Given the description of an element on the screen output the (x, y) to click on. 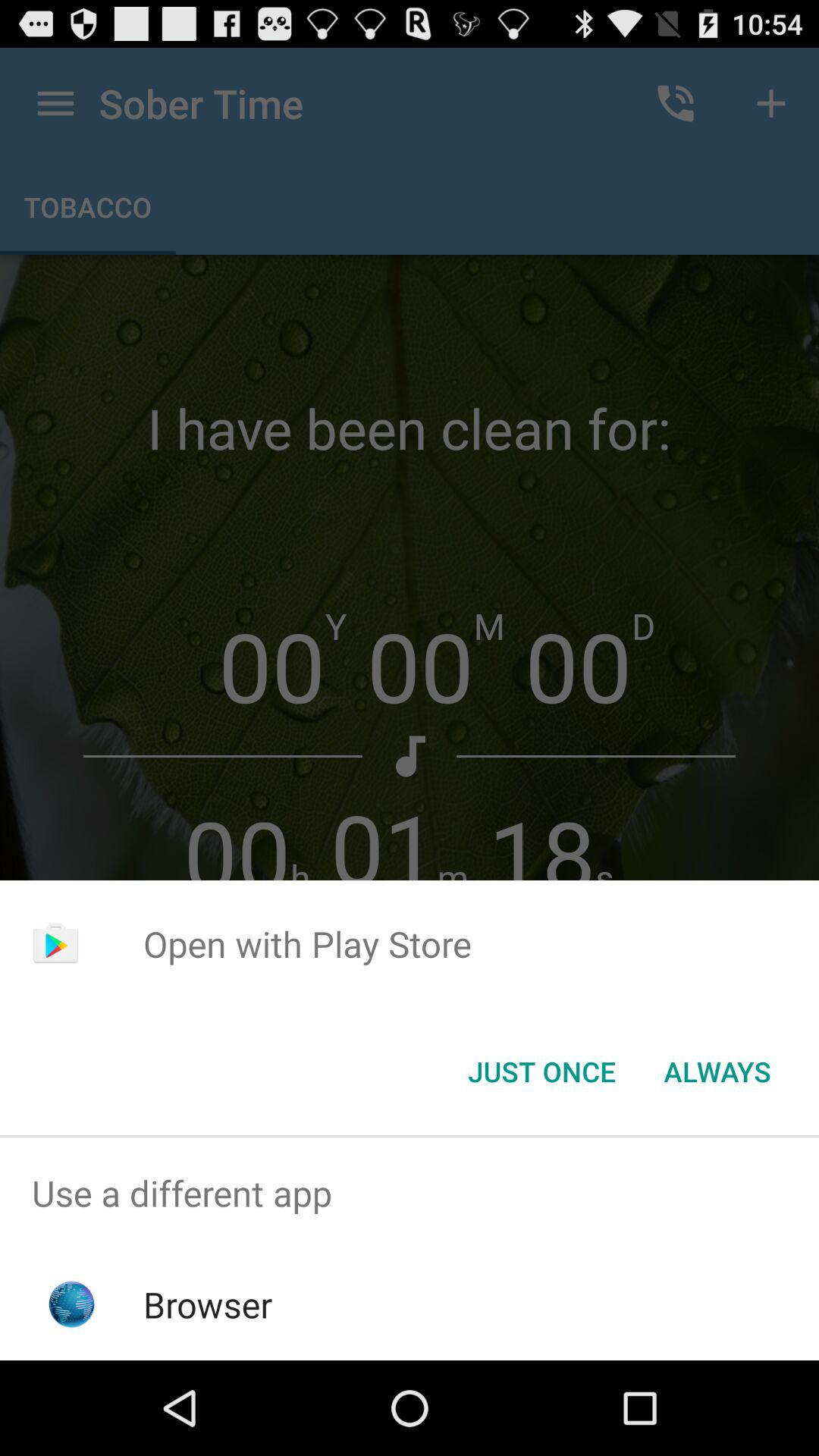
open the icon to the right of just once (717, 1071)
